Given the description of an element on the screen output the (x, y) to click on. 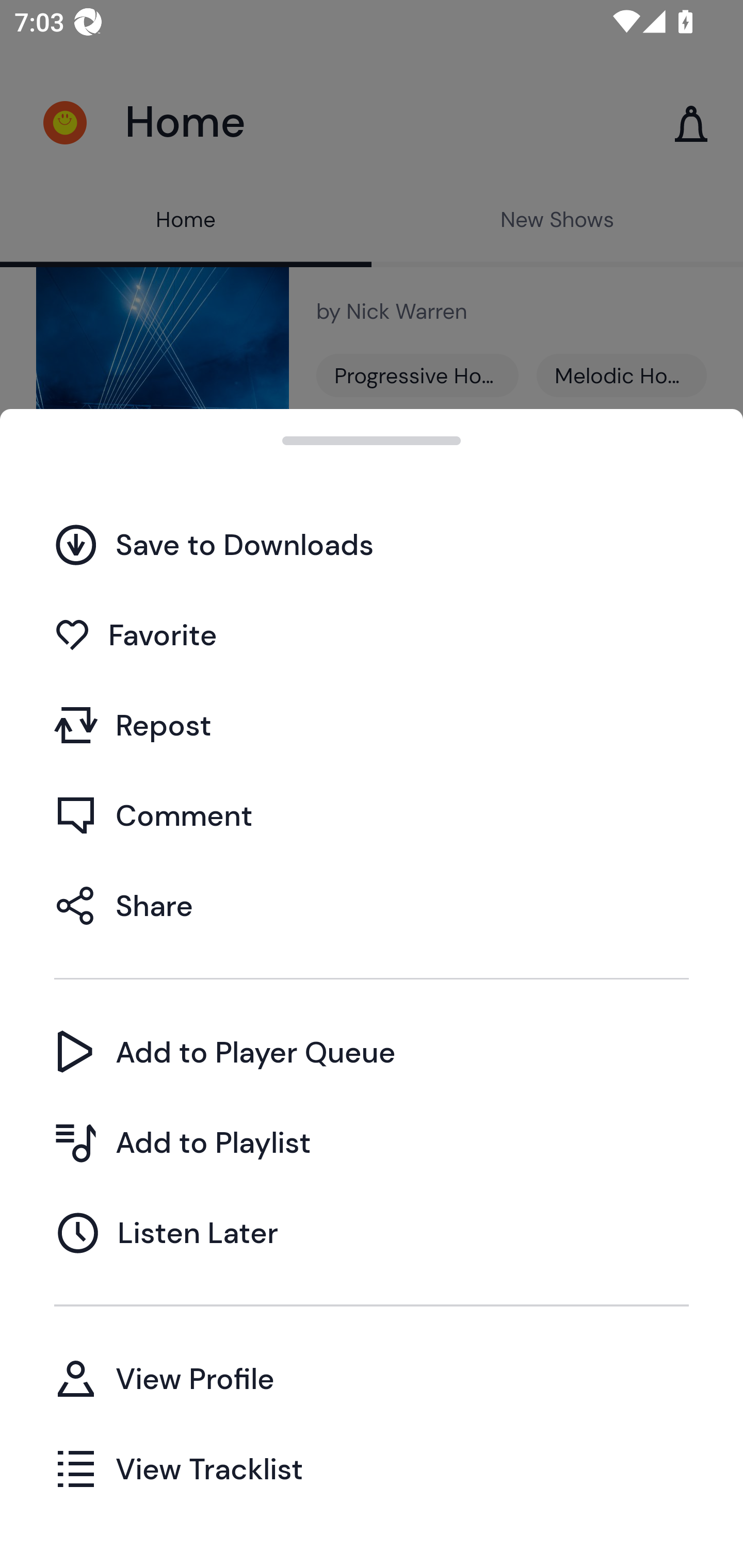
Save to Downloads (371, 543)
Favorite (371, 634)
Repost (371, 724)
Comment (371, 814)
Share (371, 905)
Add to Player Queue (371, 1051)
Add to Playlist (371, 1141)
Listen Later (371, 1231)
View Profile (371, 1377)
View Tracklist (371, 1468)
